Given the description of an element on the screen output the (x, y) to click on. 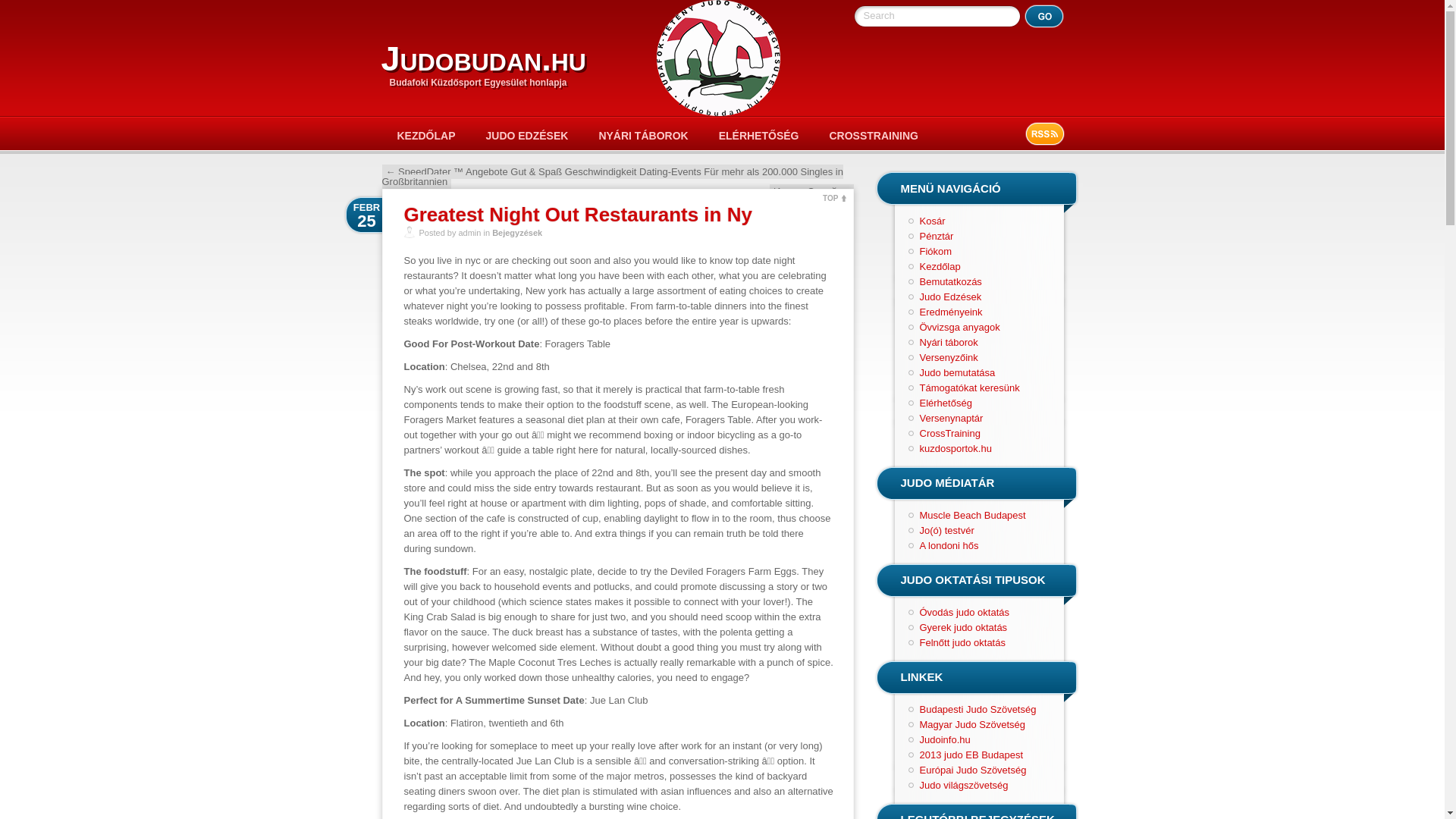
Permalink to Greatest Night Out Restaurants in Ny (577, 214)
TOP (834, 196)
Greatest Night Out Restaurants in Ny (577, 214)
Judobudan.hu (482, 58)
2013 judo EB Budapest (970, 754)
CROSSTRAINING (873, 135)
Muscle Beach Budapest (971, 514)
Judoinfo.hu (943, 739)
CrossTraining (948, 432)
kuzdosportok.hu (954, 448)
